Given the description of an element on the screen output the (x, y) to click on. 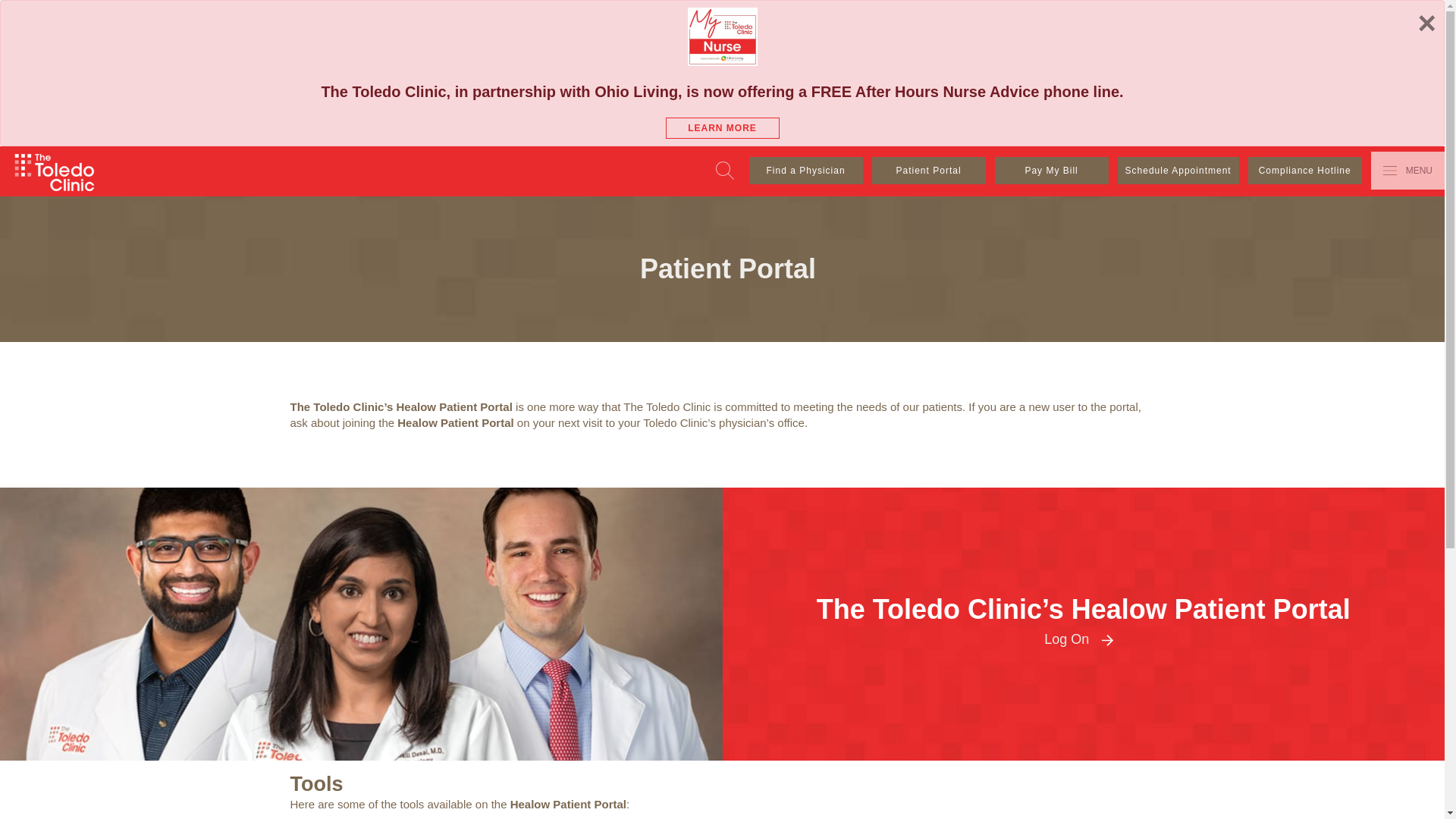
Compliance Hotline (1304, 171)
Patient Portal (928, 171)
LEARN MORE (721, 127)
Pay My Bill (1051, 171)
Schedule Appointment (1178, 171)
Find a Physician (806, 171)
